Given the description of an element on the screen output the (x, y) to click on. 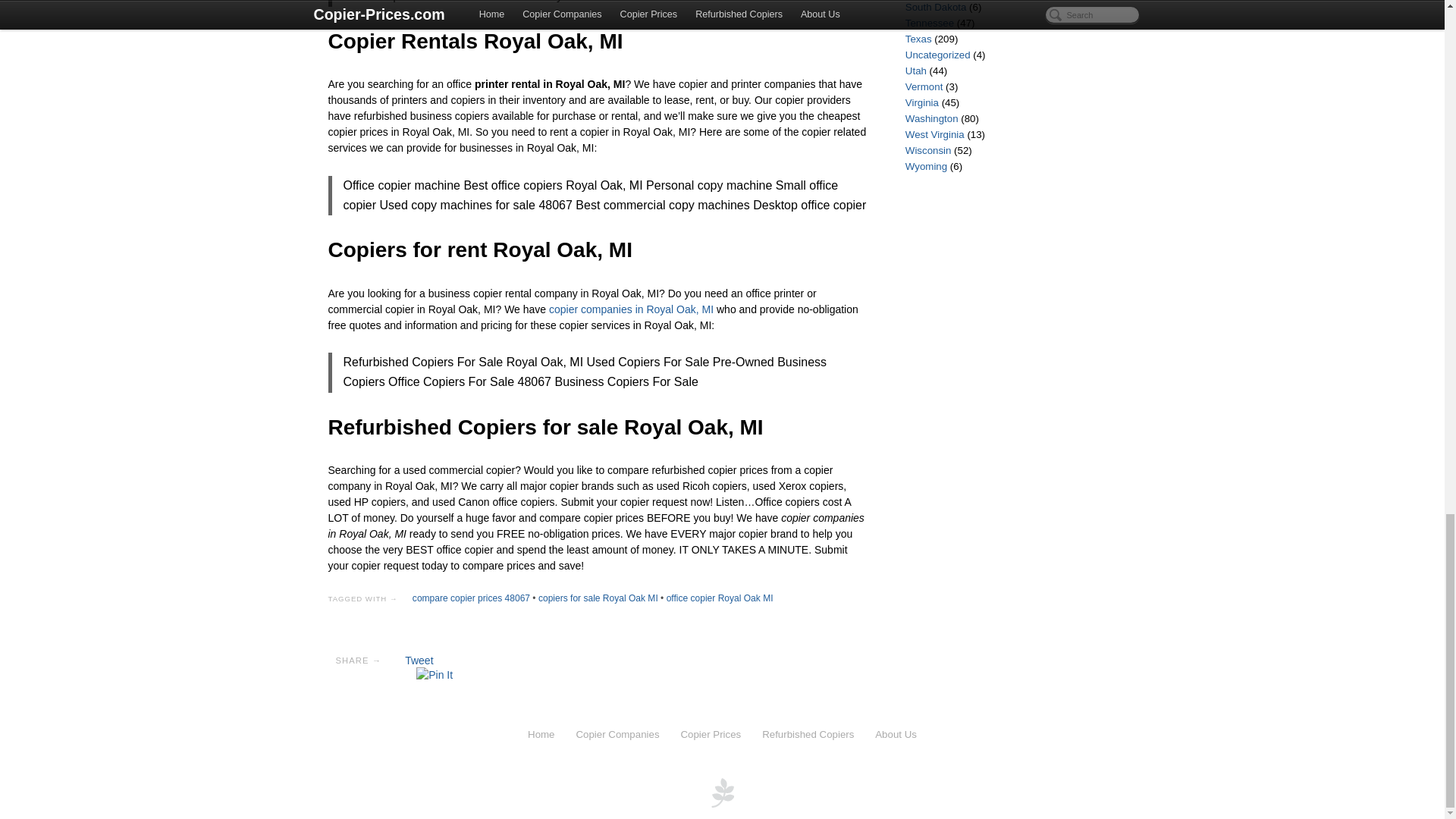
copiers for sale Royal Oak MI (598, 597)
office copier Royal Oak MI (719, 597)
copier companies in Royal Oak, MI (630, 309)
compare copier prices 48067 (470, 597)
Tweet (418, 660)
Build a website with PageLines (722, 791)
Pin It (434, 674)
